Given the description of an element on the screen output the (x, y) to click on. 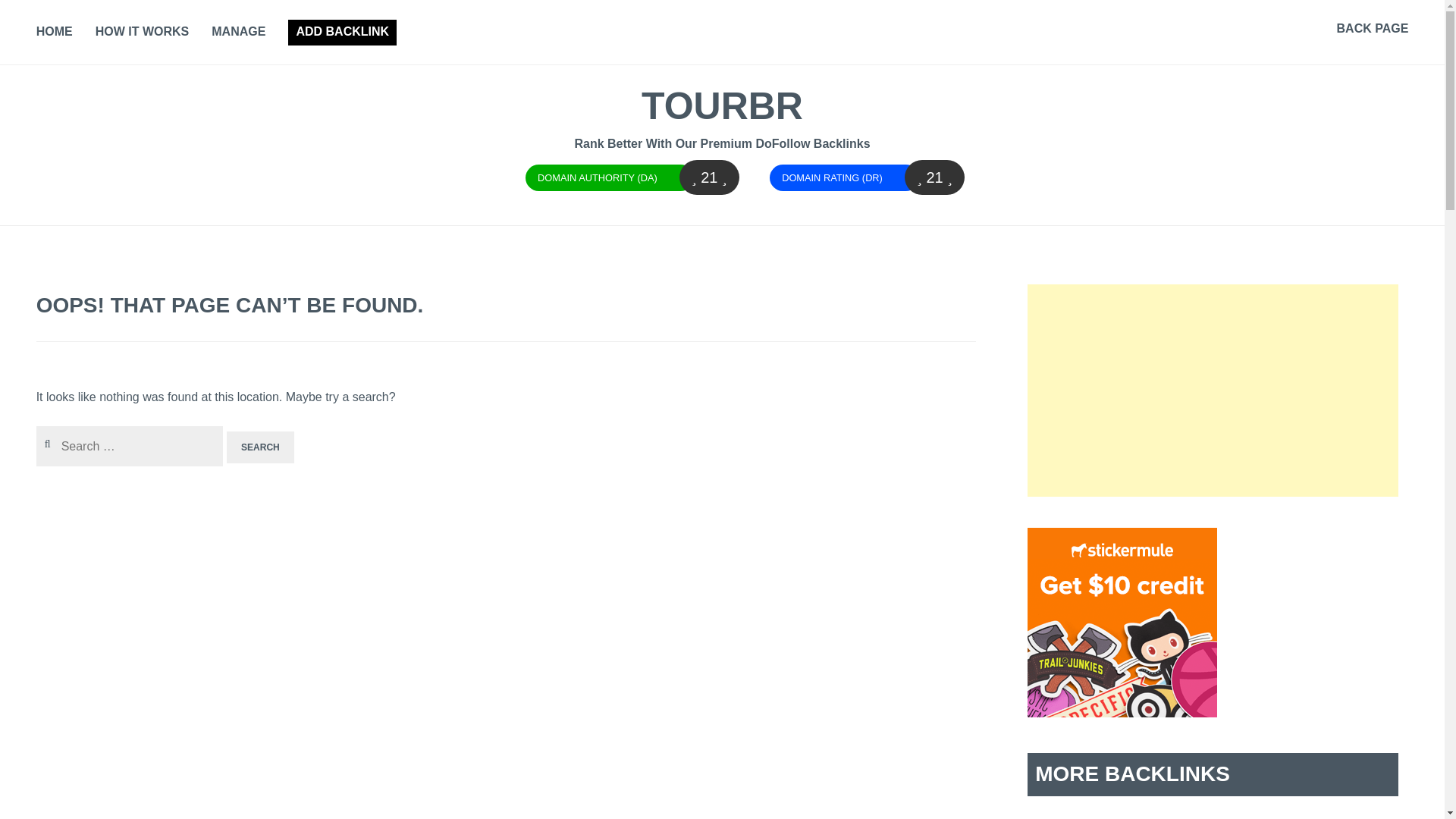
HOME (54, 32)
TOURBR (722, 106)
ADD BACKLINK (342, 32)
Search (260, 447)
Search (33, 15)
MANAGE (237, 32)
BACK PAGE (1372, 29)
HOW IT WORKS (142, 32)
Search (260, 447)
Advertisement (1212, 390)
